Given the description of an element on the screen output the (x, y) to click on. 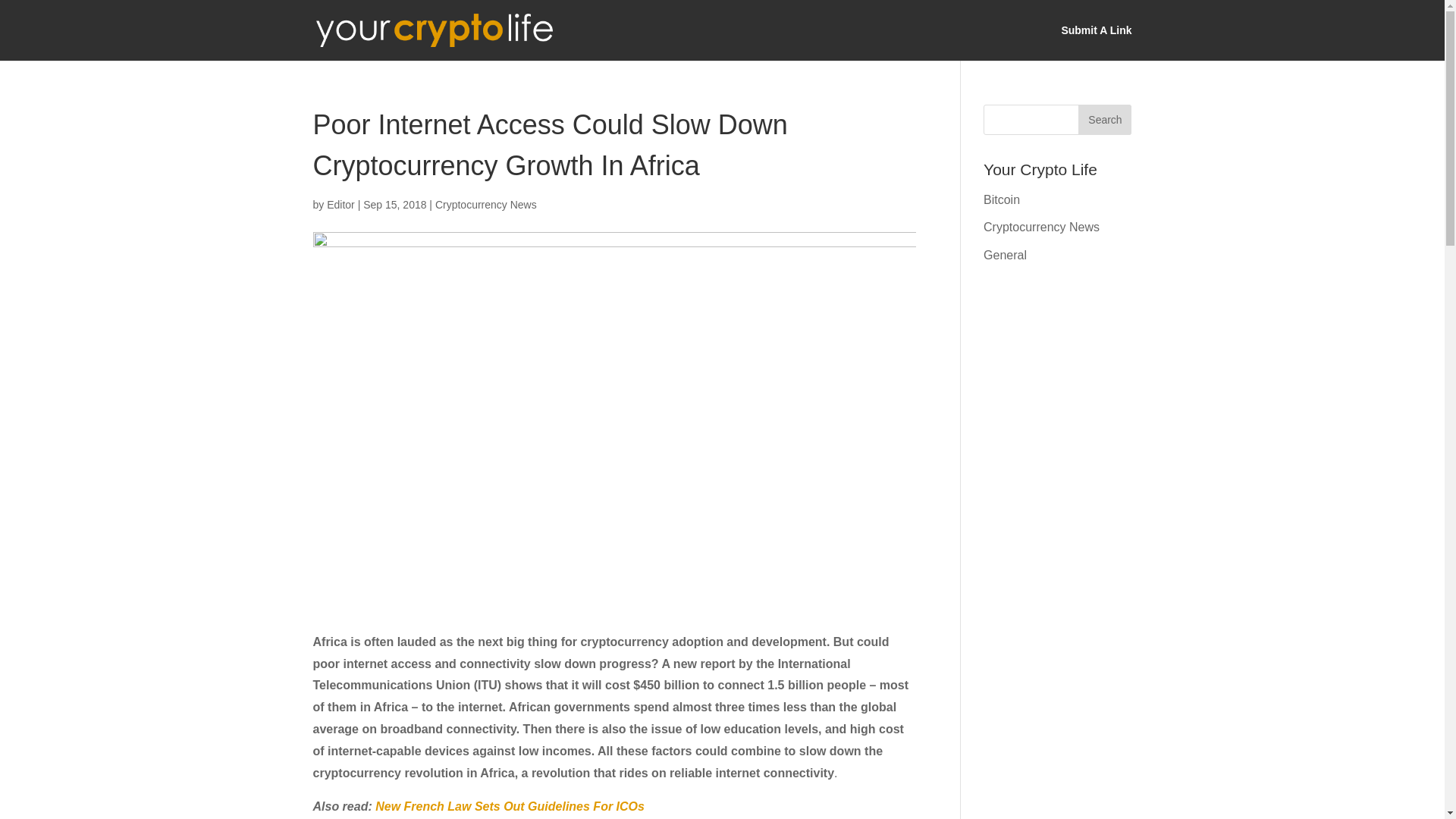
Search (1104, 119)
Cryptocurrency News (486, 204)
Posts by Editor (340, 204)
Submit A Link (1096, 42)
New French Law Sets Out Guidelines For ICOs (510, 806)
Editor (340, 204)
Bitcoin (1002, 198)
Cryptocurrency News (1041, 226)
General (1005, 254)
Search (1104, 119)
